Given the description of an element on the screen output the (x, y) to click on. 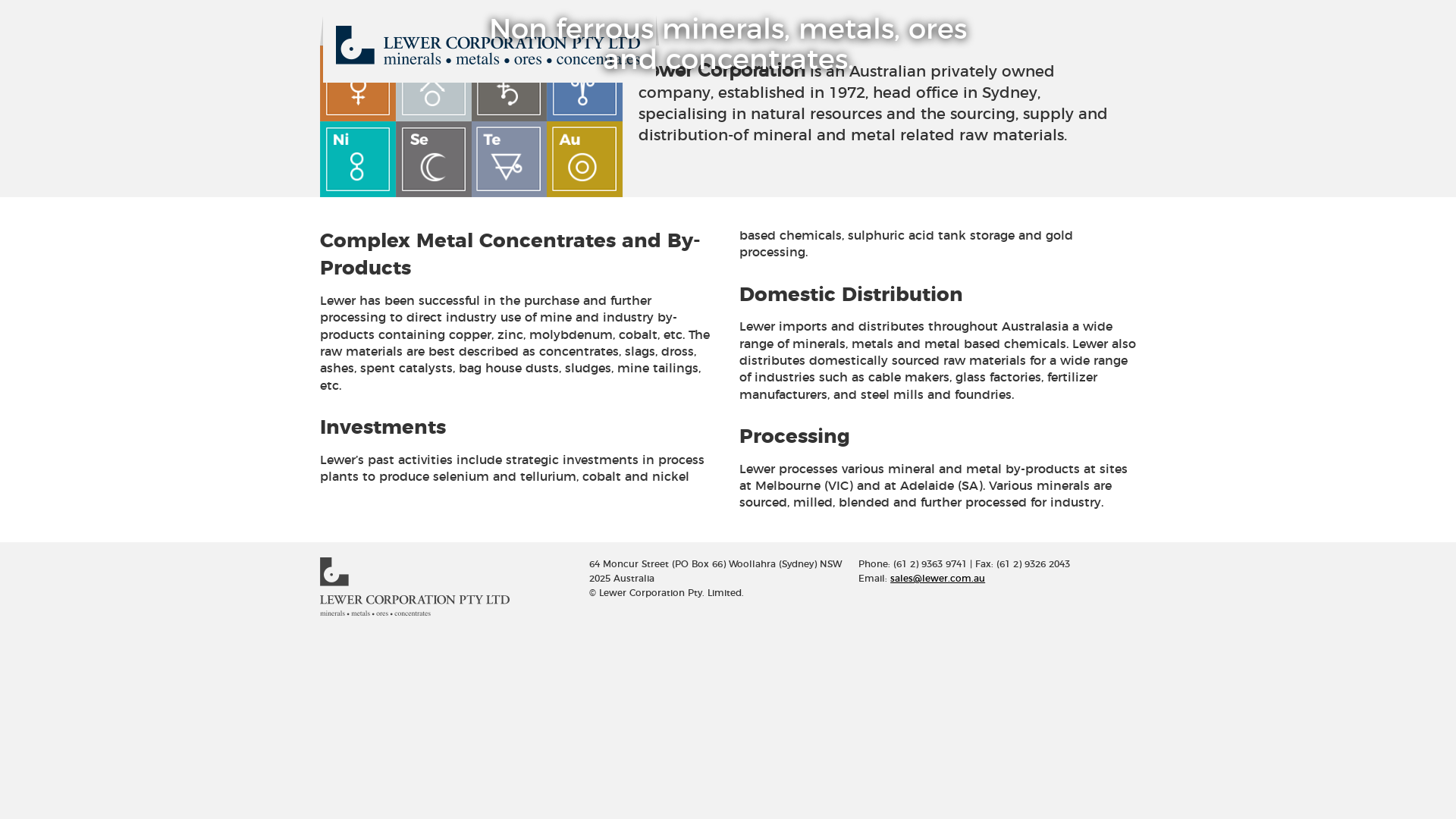
sales@lewer.com.au Element type: text (937, 578)
